Given the description of an element on the screen output the (x, y) to click on. 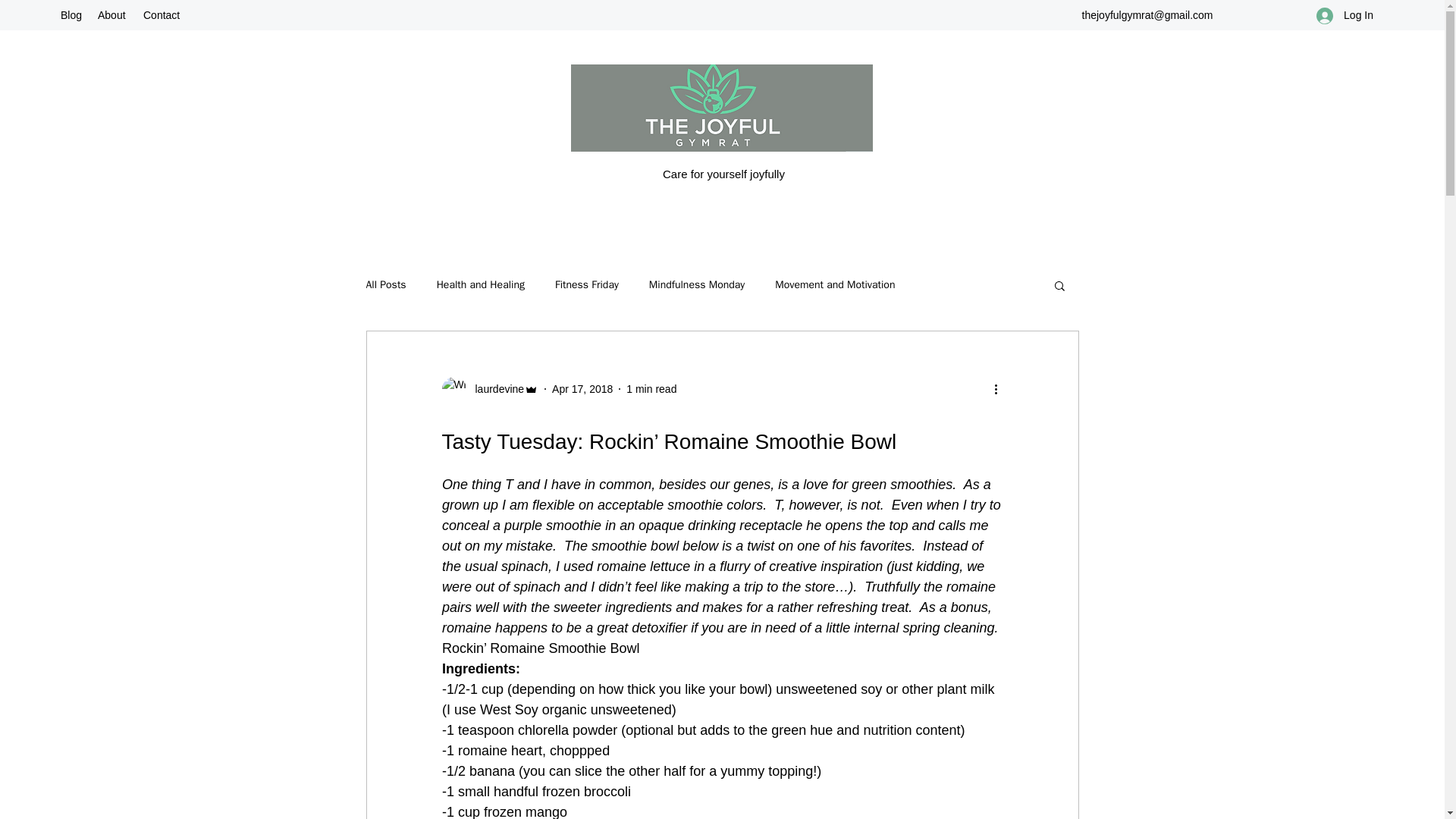
Movement and Motivation (834, 284)
Apr 17, 2018 (581, 388)
Health and Healing (480, 284)
laurdevine (494, 389)
Log In (1345, 15)
Mindfulness Monday (696, 284)
laurdevine (489, 388)
1 min read (651, 388)
Blog (71, 15)
About (112, 15)
Fitness Friday (586, 284)
All Posts (385, 284)
Contact (162, 15)
